Given the description of an element on the screen output the (x, y) to click on. 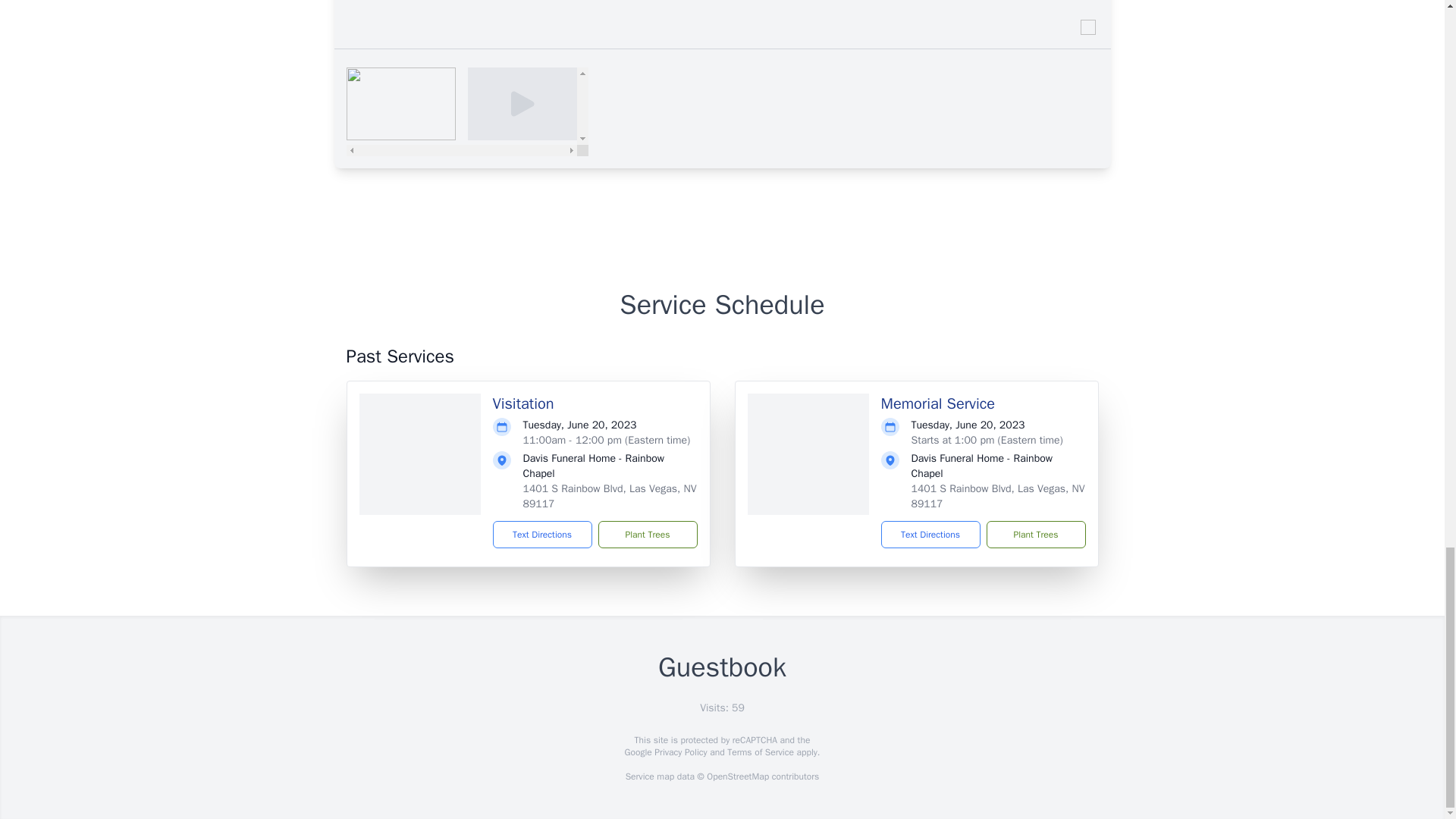
Terms of Service (759, 752)
Plant Trees (1034, 533)
Text Directions (542, 533)
1401 S Rainbow Blvd, Las Vegas, NV 89117 (997, 496)
Privacy Policy (679, 752)
1401 S Rainbow Blvd, Las Vegas, NV 89117 (609, 496)
Plant Trees (646, 533)
Text Directions (929, 533)
OpenStreetMap (737, 776)
